Given the description of an element on the screen output the (x, y) to click on. 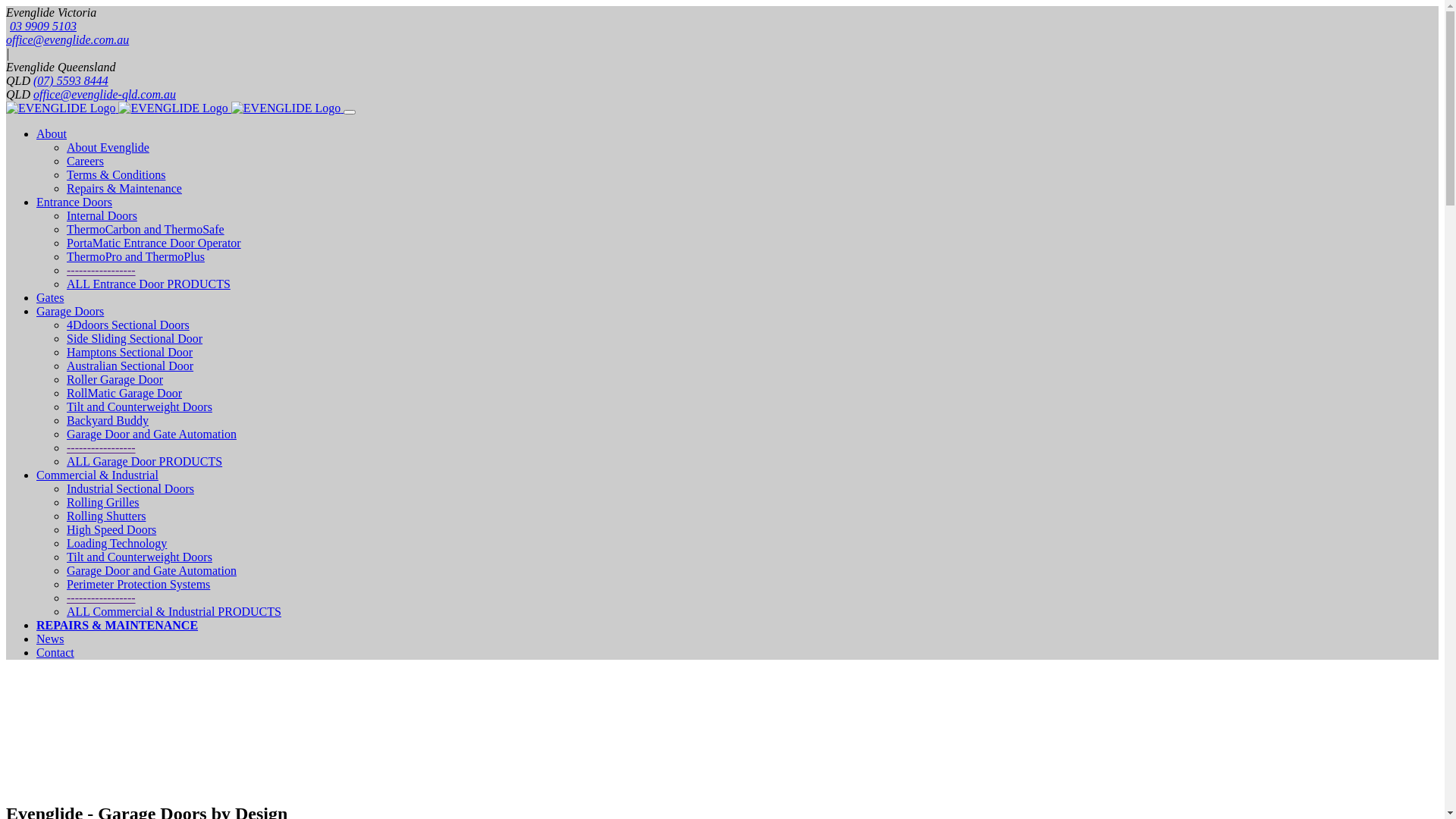
Industrial Sectional Doors Element type: text (130, 488)
Garage Door and Gate Automation Element type: text (151, 570)
Commercial & Industrial Element type: text (97, 474)
Entrance Doors Element type: text (74, 201)
Roller Garage Door Element type: text (114, 379)
----------------- Element type: text (100, 447)
Terms & Conditions Element type: text (115, 174)
Rolling Shutters Element type: text (105, 515)
office@evenglide.com.au Element type: text (67, 39)
Loading Technology Element type: text (116, 542)
RollMatic Garage Door Element type: text (124, 392)
Internal Doors Element type: text (101, 215)
ALL Garage Door PRODUCTS Element type: text (144, 461)
----------------- Element type: text (100, 597)
Hamptons Sectional Door Element type: text (129, 351)
Contact Element type: text (55, 652)
Perimeter Protection Systems Element type: text (138, 583)
Tilt and Counterweight Doors Element type: text (139, 556)
About Evenglide Element type: text (107, 147)
Repairs & Maintenance Element type: text (124, 188)
03 9909 5103 Element type: text (41, 25)
Careers Element type: text (84, 160)
Australian Sectional Door Element type: text (129, 365)
REPAIRS & MAINTENANCE Element type: text (116, 624)
office@evenglide-qld.com.au Element type: text (104, 93)
Rolling Grilles Element type: text (102, 501)
ThermoCarbon and ThermoSafe Element type: text (145, 228)
Garage Door and Gate Automation Element type: text (151, 433)
Backyard Buddy Element type: text (107, 420)
Gates Element type: text (49, 297)
PortaMatic Entrance Door Operator Element type: text (153, 242)
ThermoPro and ThermoPlus Element type: text (135, 256)
ALL Commercial & Industrial PRODUCTS Element type: text (173, 611)
High Speed Doors Element type: text (111, 529)
News Element type: text (49, 638)
About Element type: text (51, 133)
ALL Entrance Door PRODUCTS Element type: text (148, 283)
4Ddoors Sectional Doors Element type: text (127, 324)
Garage Doors Element type: text (69, 310)
(07) 5593 8444 Element type: text (70, 80)
----------------- Element type: text (100, 269)
Side Sliding Sectional Door Element type: text (134, 338)
Tilt and Counterweight Doors Element type: text (139, 406)
